Given the description of an element on the screen output the (x, y) to click on. 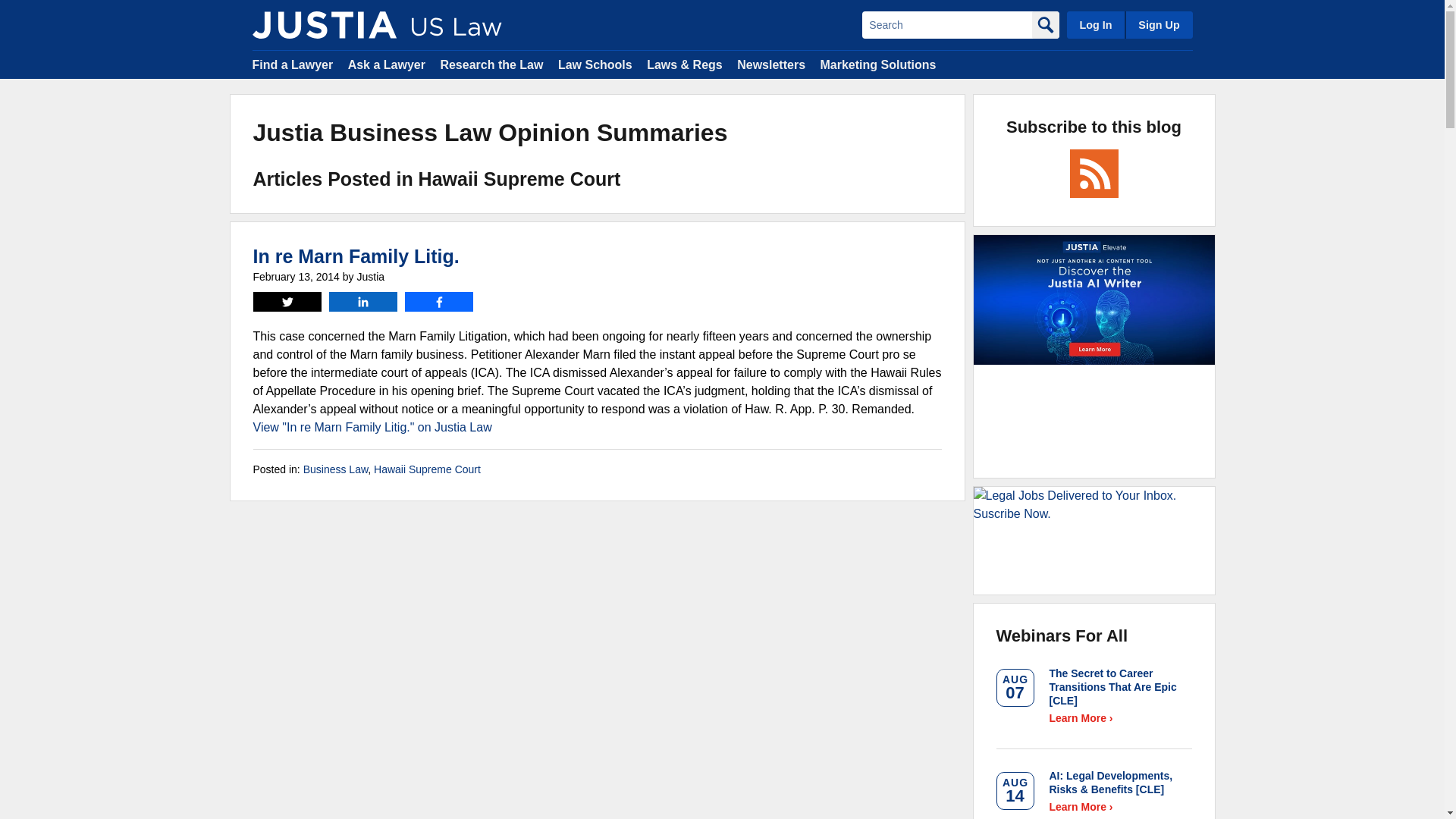
Log In (1094, 24)
Search (945, 24)
Law Schools (594, 64)
Sign Up (1158, 24)
Newsletters (770, 64)
View "In re Marn Family Litig." on Justia Law (372, 427)
Ask a Lawyer (386, 64)
In re Marn Family Litig. (356, 255)
Research the Law (491, 64)
Marketing Solutions (877, 64)
Business Law (335, 469)
View all posts in Business Law (335, 469)
View all posts in Hawaii Supreme Court (427, 469)
Find a Lawyer (292, 64)
Feed (1093, 173)
